Given the description of an element on the screen output the (x, y) to click on. 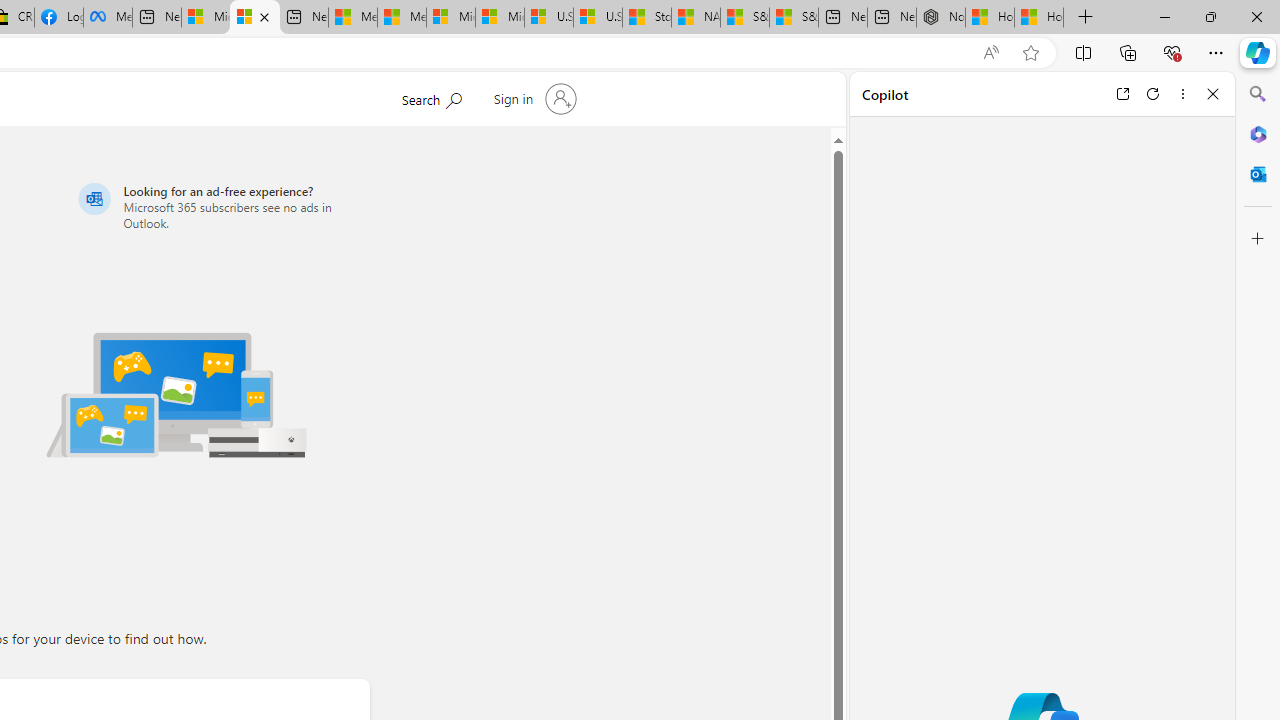
Looking for an ad-free experience? (220, 206)
Log into Facebook (58, 17)
Illustration of multiple devices (176, 394)
Customize (1258, 239)
